Given the description of an element on the screen output the (x, y) to click on. 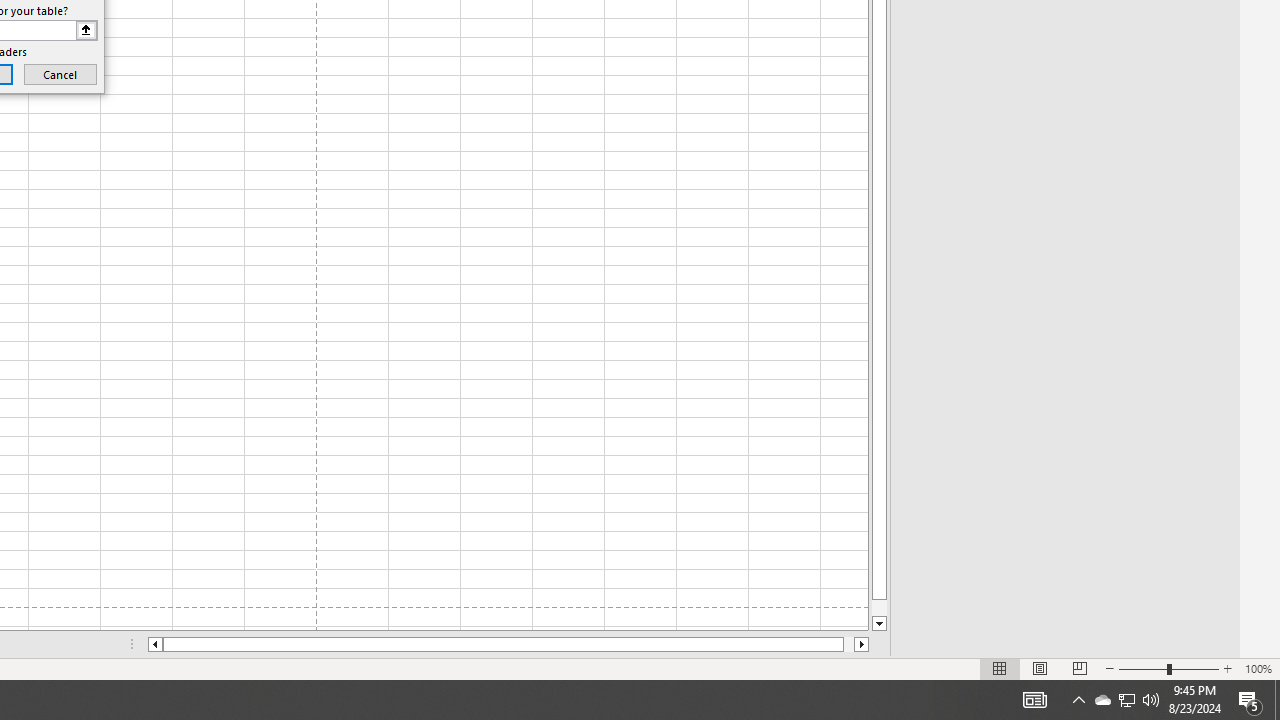
Page down (879, 607)
Class: NetUIScrollBar (507, 644)
Page Layout (1039, 668)
Page Break Preview (1079, 668)
Zoom (1168, 668)
Line down (879, 624)
Zoom In (1227, 668)
Column left (153, 644)
Zoom Out (1142, 668)
Page right (848, 644)
Normal (1000, 668)
Column right (861, 644)
